Given the description of an element on the screen output the (x, y) to click on. 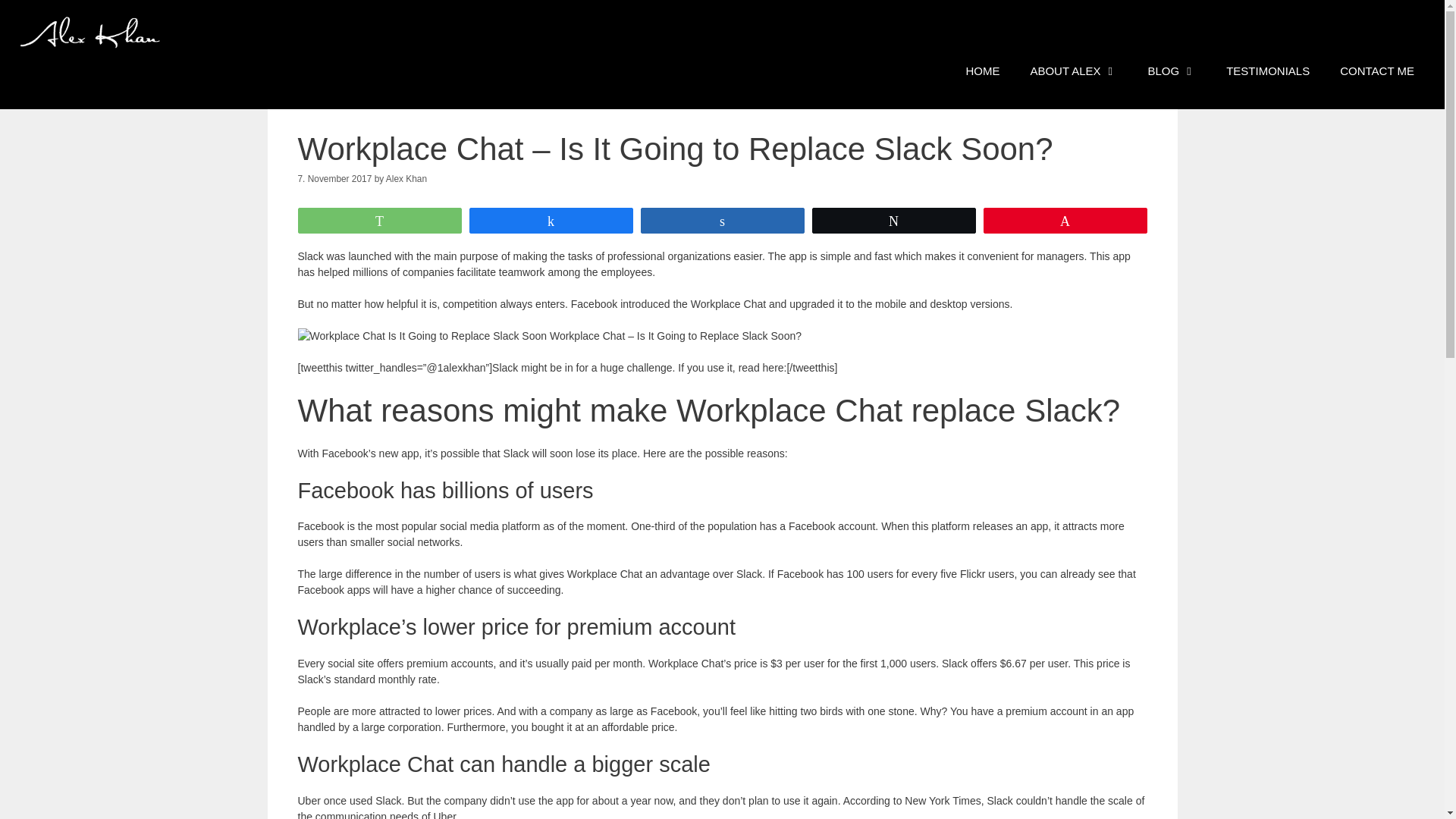
TESTIMONIALS (1267, 71)
CONTACT ME (1376, 71)
View all posts by Alex Khan (405, 178)
HOME (982, 71)
Alex Khan (405, 178)
ABOUT ALEX (1073, 71)
BLOG (1171, 71)
